Given the description of an element on the screen output the (x, y) to click on. 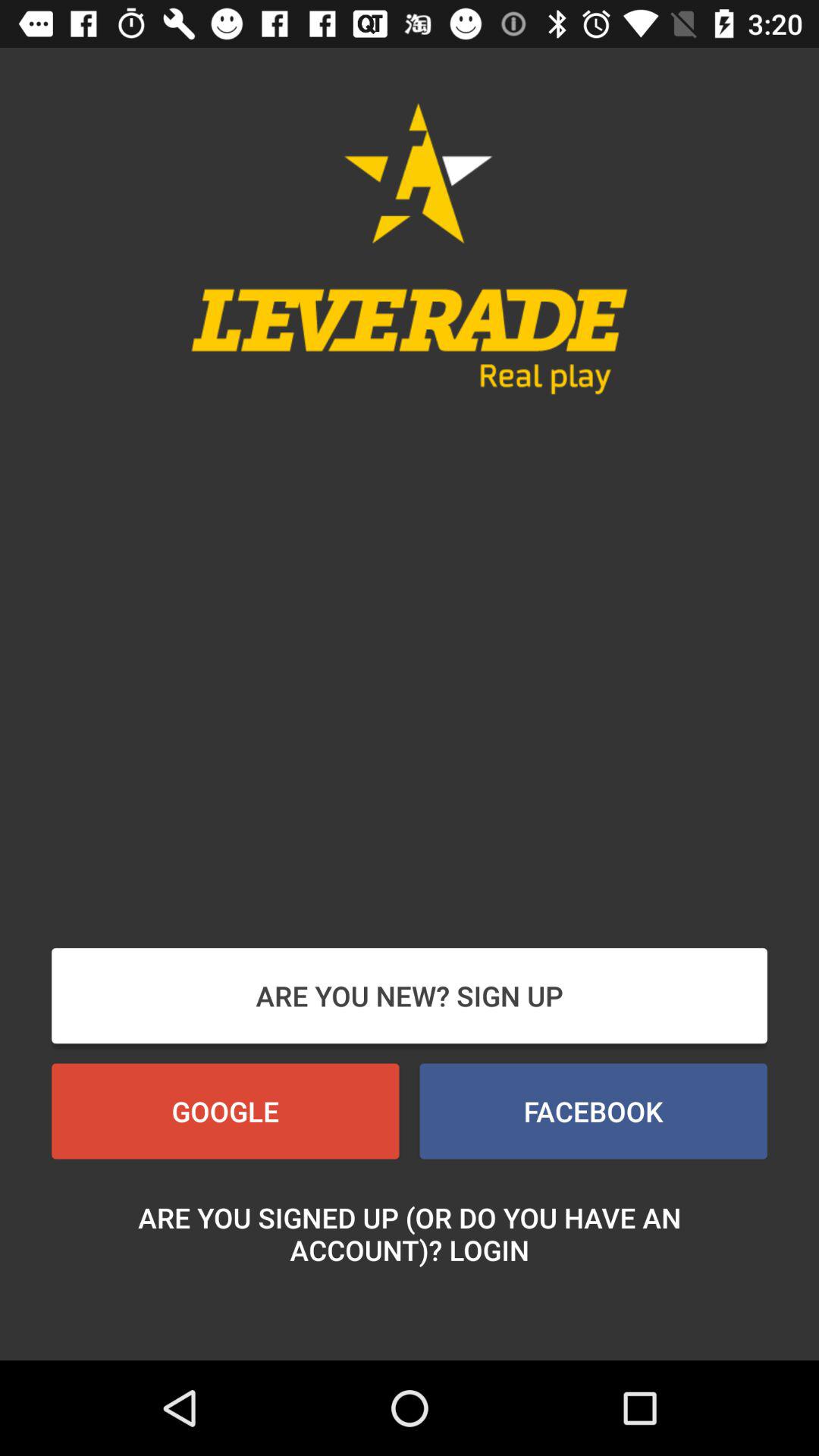
select the button next to facebook icon (225, 1111)
